Given the description of an element on the screen output the (x, y) to click on. 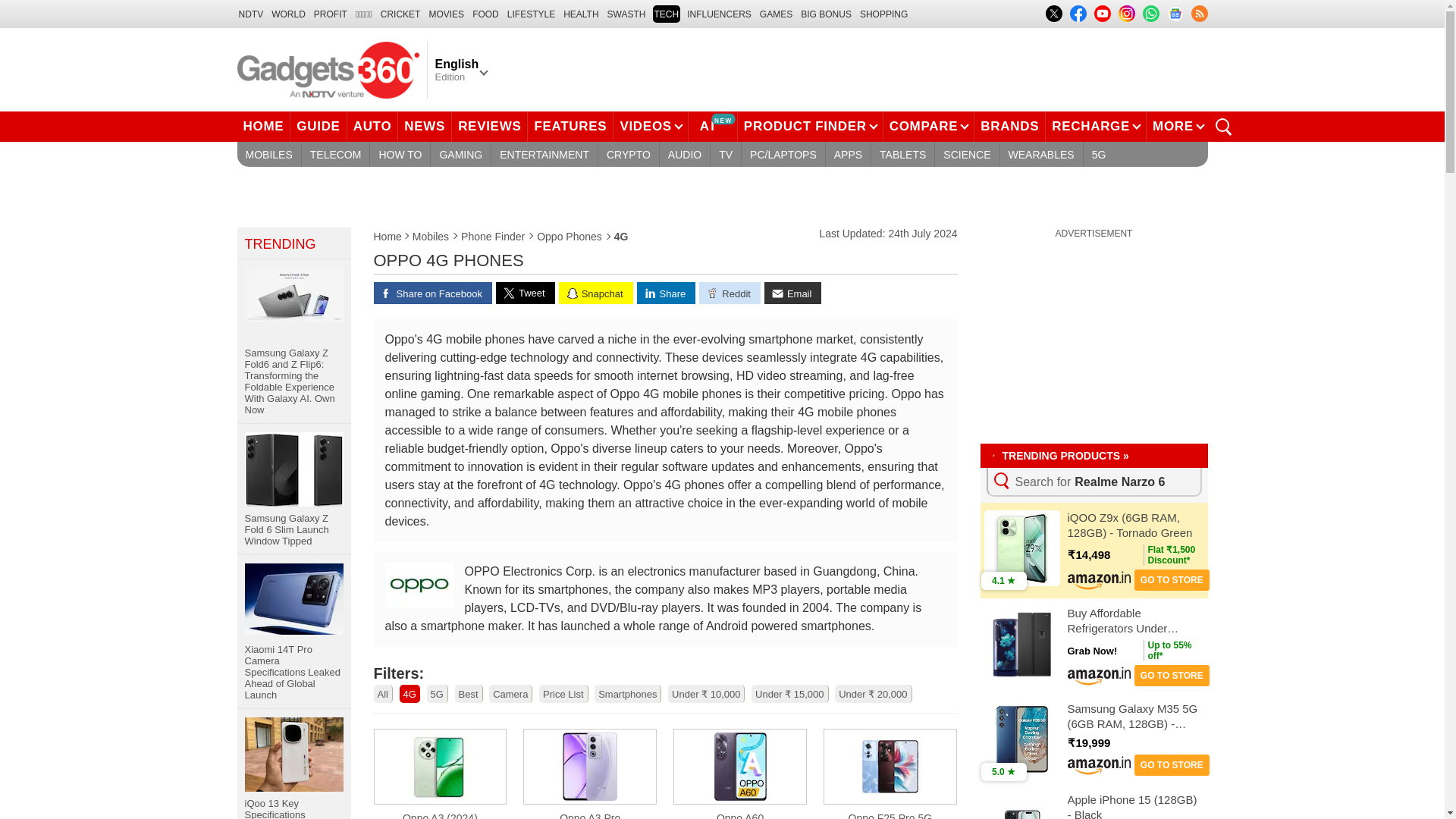
FOOD (485, 13)
LIFESTYLE (530, 13)
SHOPPING (883, 13)
Cricket (400, 13)
WORLD (288, 13)
HEALTH (580, 13)
VIDEOS (649, 126)
Gadgets 360 (327, 68)
TECH (665, 13)
MOVIES (445, 13)
Profit (331, 13)
BIG BONUS (826, 13)
Big Bonus (826, 13)
HEALTH (580, 13)
NEWS (424, 126)
